Given the description of an element on the screen output the (x, y) to click on. 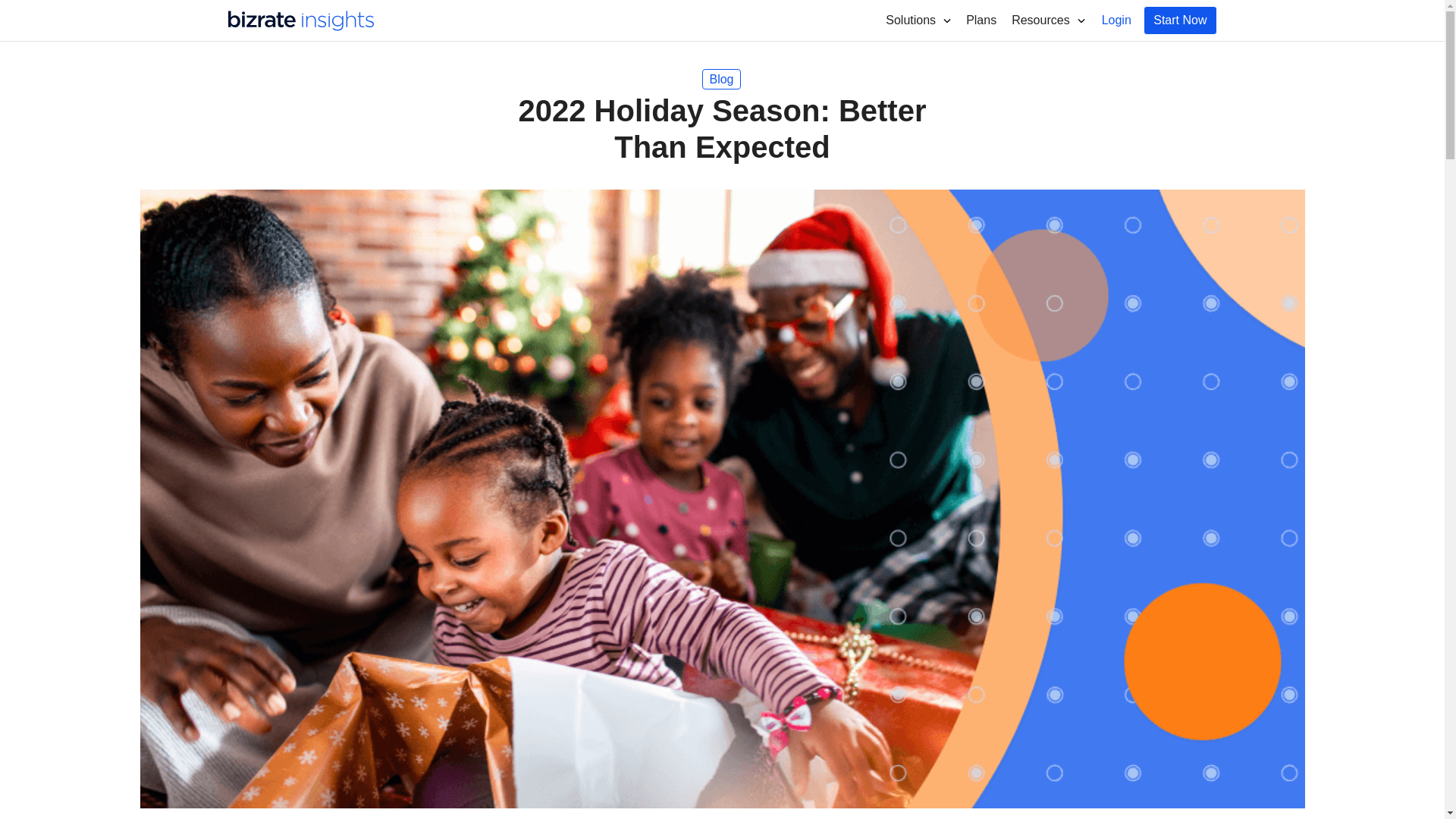
Login (1116, 20)
Plans (981, 19)
Solutions (917, 19)
Start Now (1178, 20)
Resources (1048, 19)
